Given the description of an element on the screen output the (x, y) to click on. 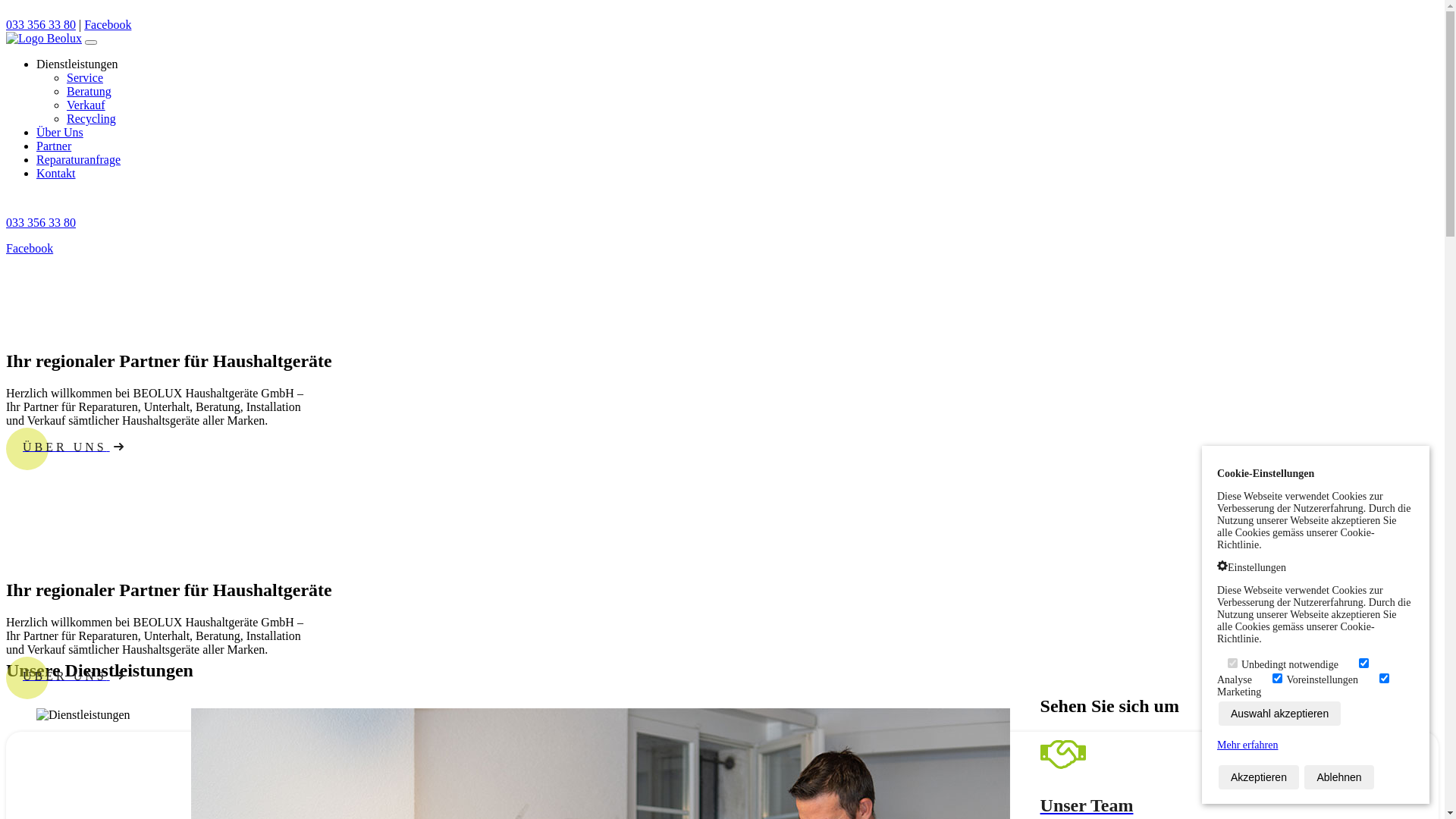
Kontakt Element type: text (55, 172)
Reparaturanfrage Element type: text (78, 159)
Beratung Element type: text (88, 90)
Mehr erfahren Element type: text (1247, 744)
Facebook Element type: text (29, 247)
Partner Element type: text (53, 145)
Auswahl akzeptieren Element type: text (1279, 713)
Akzeptieren Element type: text (1258, 777)
Ablehnen Element type: text (1338, 777)
Facebook Element type: text (107, 24)
033 356 33 80 Element type: text (40, 24)
Recycling Element type: text (91, 118)
Service Element type: text (84, 77)
Verkauf Element type: text (85, 104)
Dienstleistungen Element type: text (77, 63)
033 356 33 80 Element type: text (40, 222)
